Given the description of an element on the screen output the (x, y) to click on. 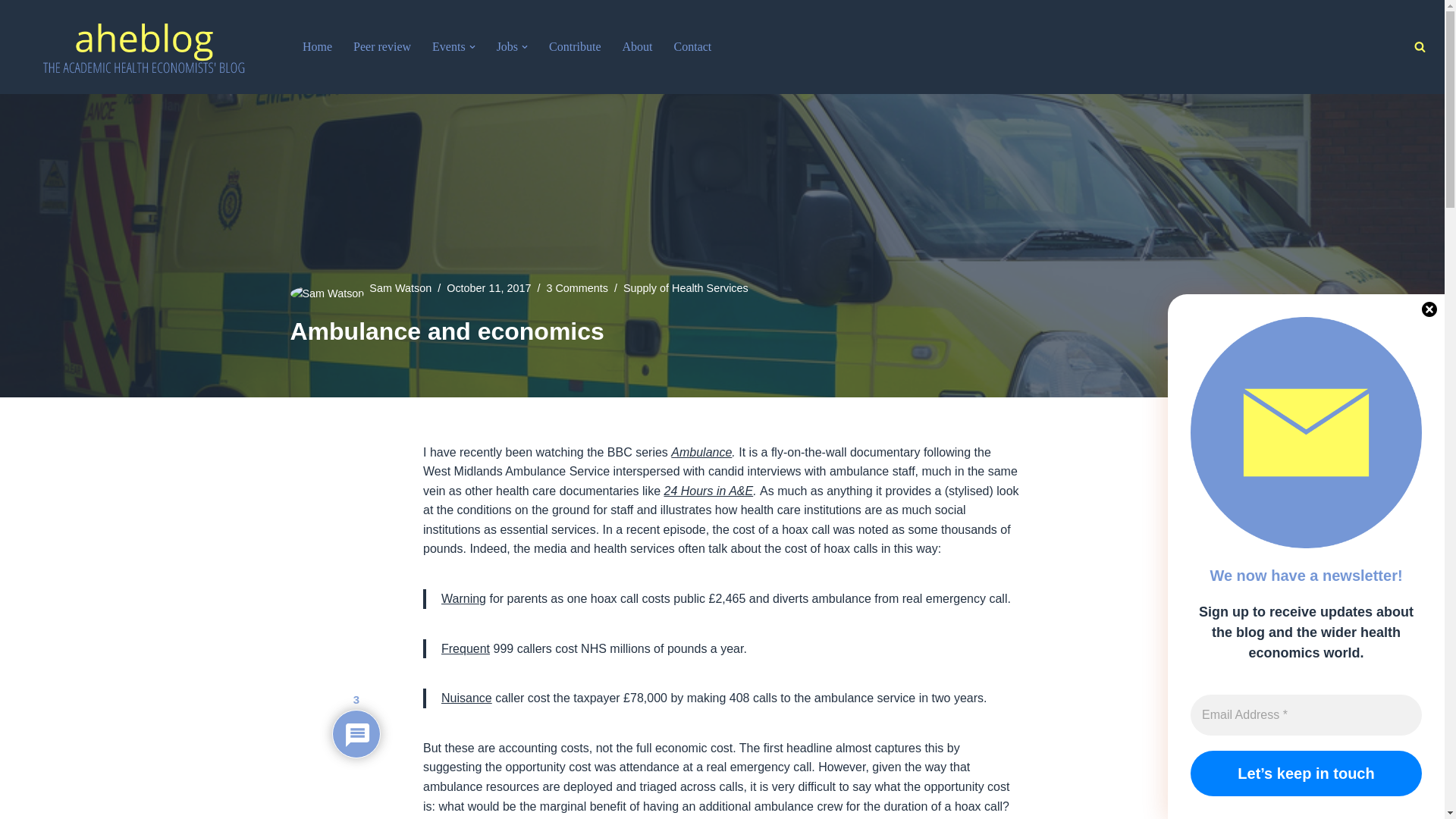
Home (316, 46)
Skip to content (11, 31)
Jobs (507, 46)
Peer review (381, 46)
Sam Watson (399, 287)
Nuisance (466, 697)
About (637, 46)
3 Comments (577, 287)
Contribute (573, 46)
Frequent (465, 648)
Events (448, 46)
Supply of Health Services (685, 287)
Ambulance (701, 451)
Warning (463, 598)
Posts by Sam Watson (399, 287)
